Given the description of an element on the screen output the (x, y) to click on. 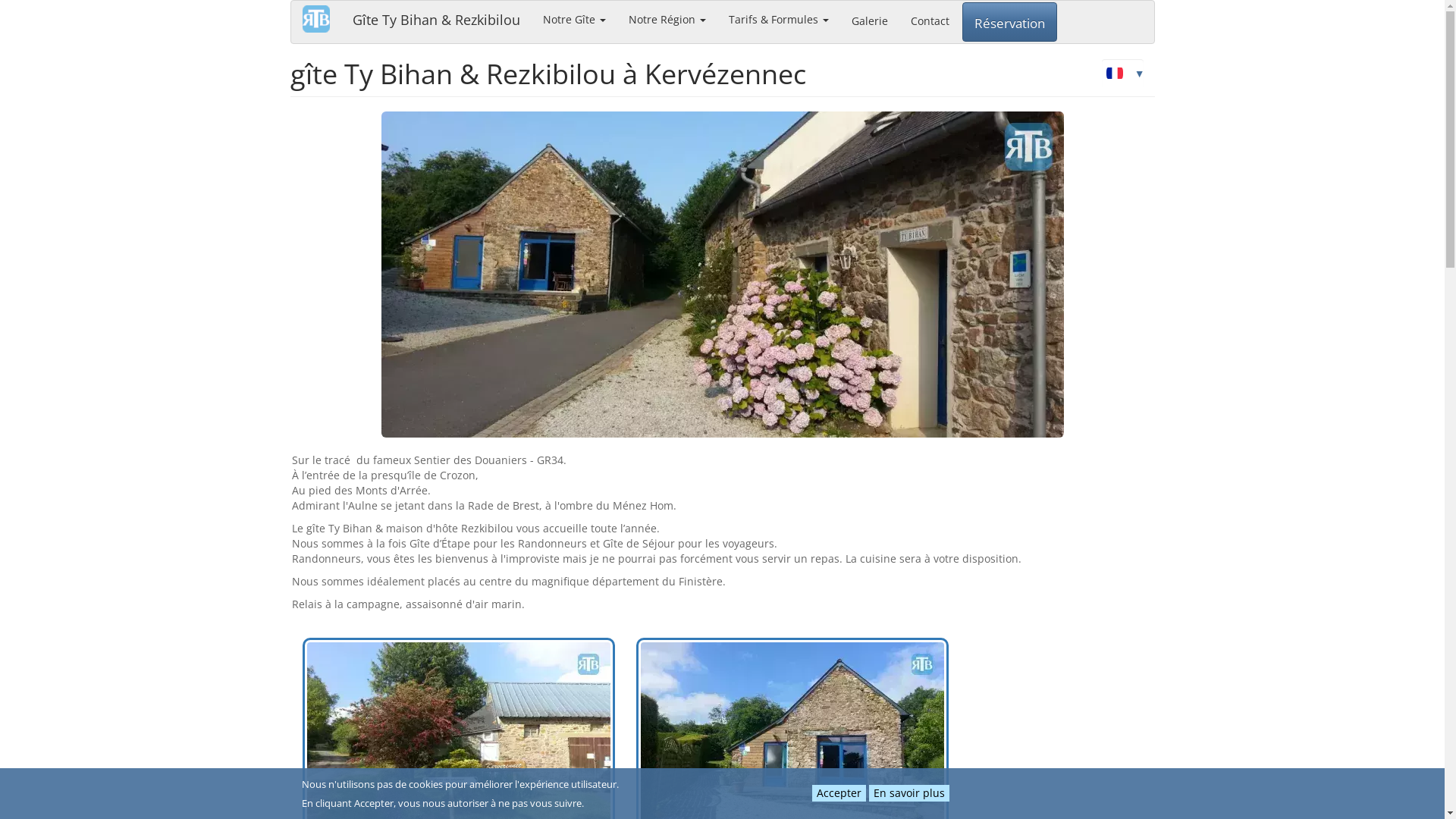
Galerie Element type: text (869, 19)
Accueil Element type: hover (320, 18)
Contact Element type: text (929, 19)
Aller au contenu principal Element type: text (0, 0)
En savoir plus Element type: text (909, 792)
Accepter Element type: text (839, 792)
French Element type: hover (1113, 72)
